Given the description of an element on the screen output the (x, y) to click on. 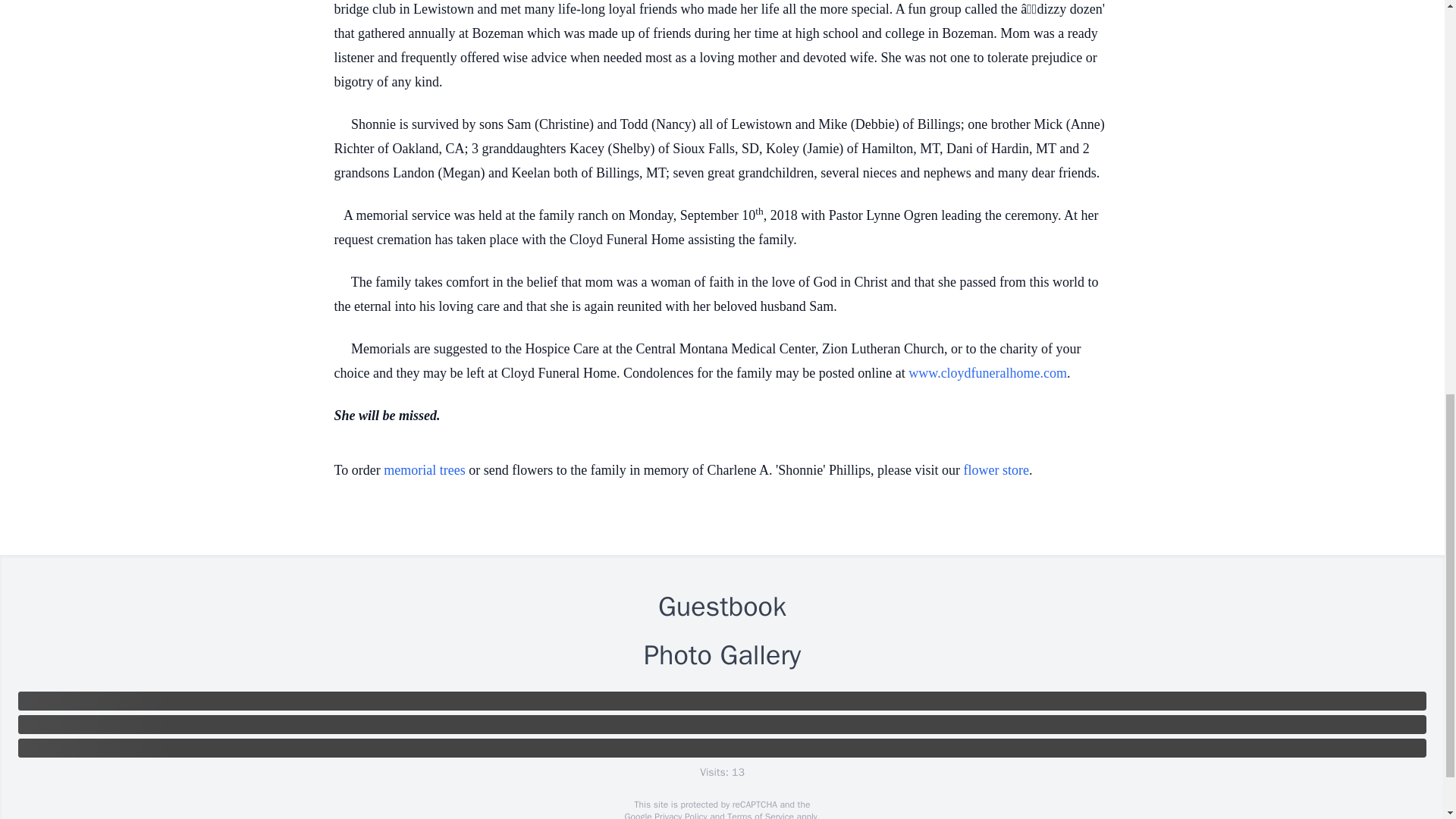
memorial trees (424, 469)
www.cloydfuneralhome.com (987, 372)
flower store (996, 469)
Privacy Policy (679, 814)
Terms of Service (759, 814)
